Given the description of an element on the screen output the (x, y) to click on. 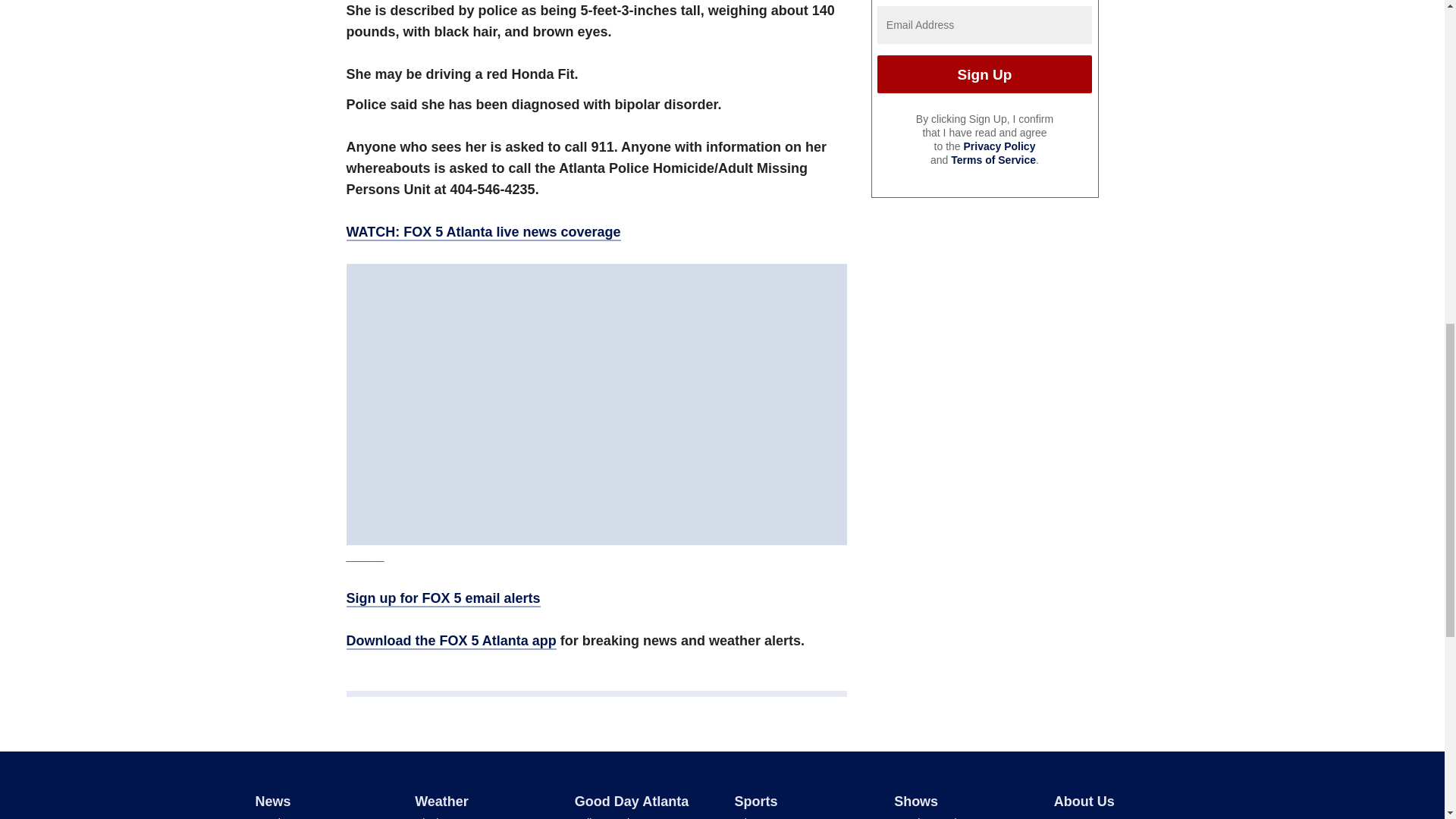
Sign Up (984, 74)
